Given the description of an element on the screen output the (x, y) to click on. 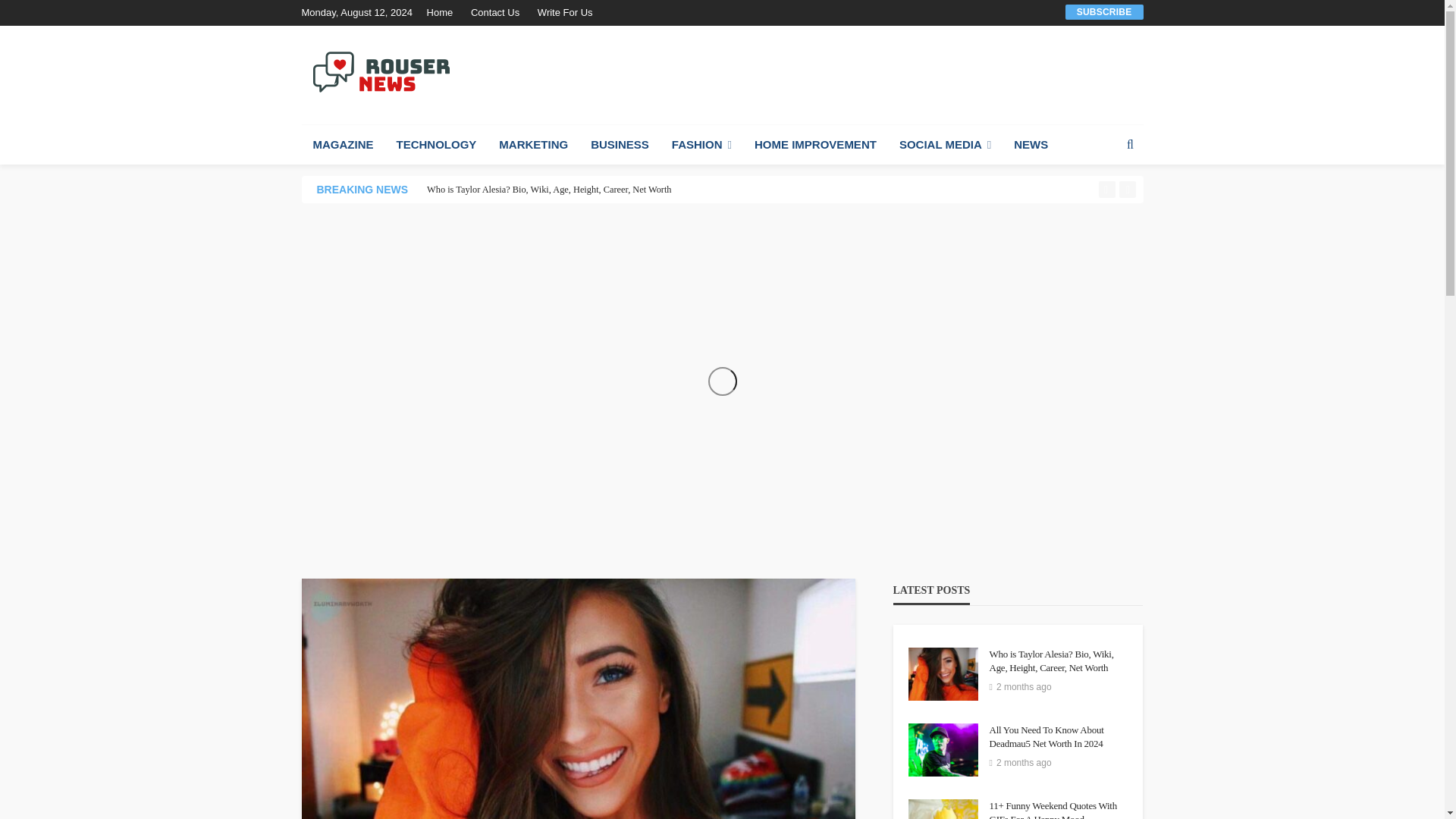
Contact Us (495, 12)
SUBSCRIBE (1103, 11)
FASHION (701, 144)
Write For Us (564, 12)
MARKETING (533, 144)
subscribe (1103, 11)
SOCIAL MEDIA (945, 144)
MAGAZINE (343, 144)
